Given the description of an element on the screen output the (x, y) to click on. 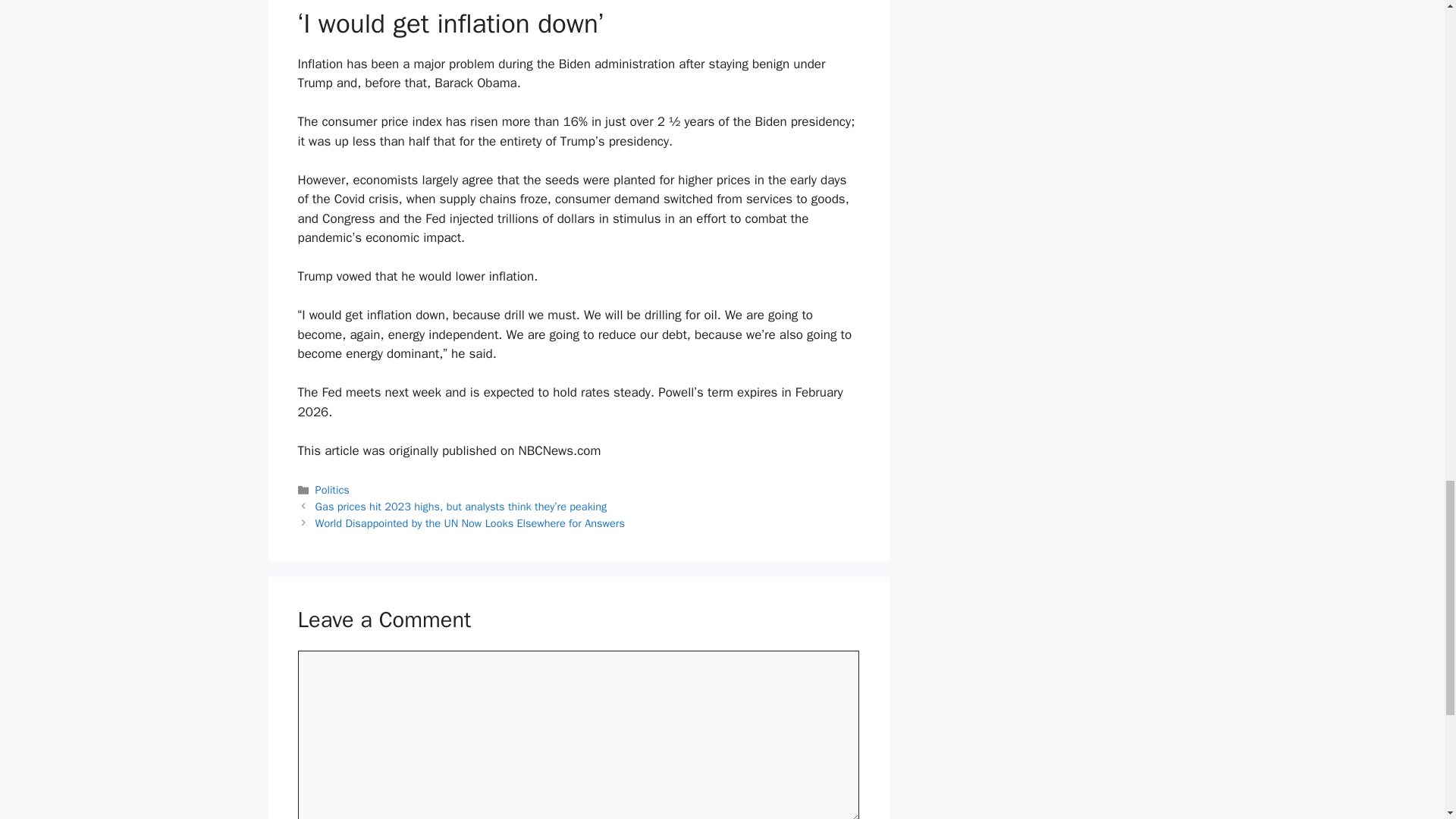
Politics (332, 489)
World Disappointed by the UN Now Looks Elsewhere for Answers (469, 522)
